Given the description of an element on the screen output the (x, y) to click on. 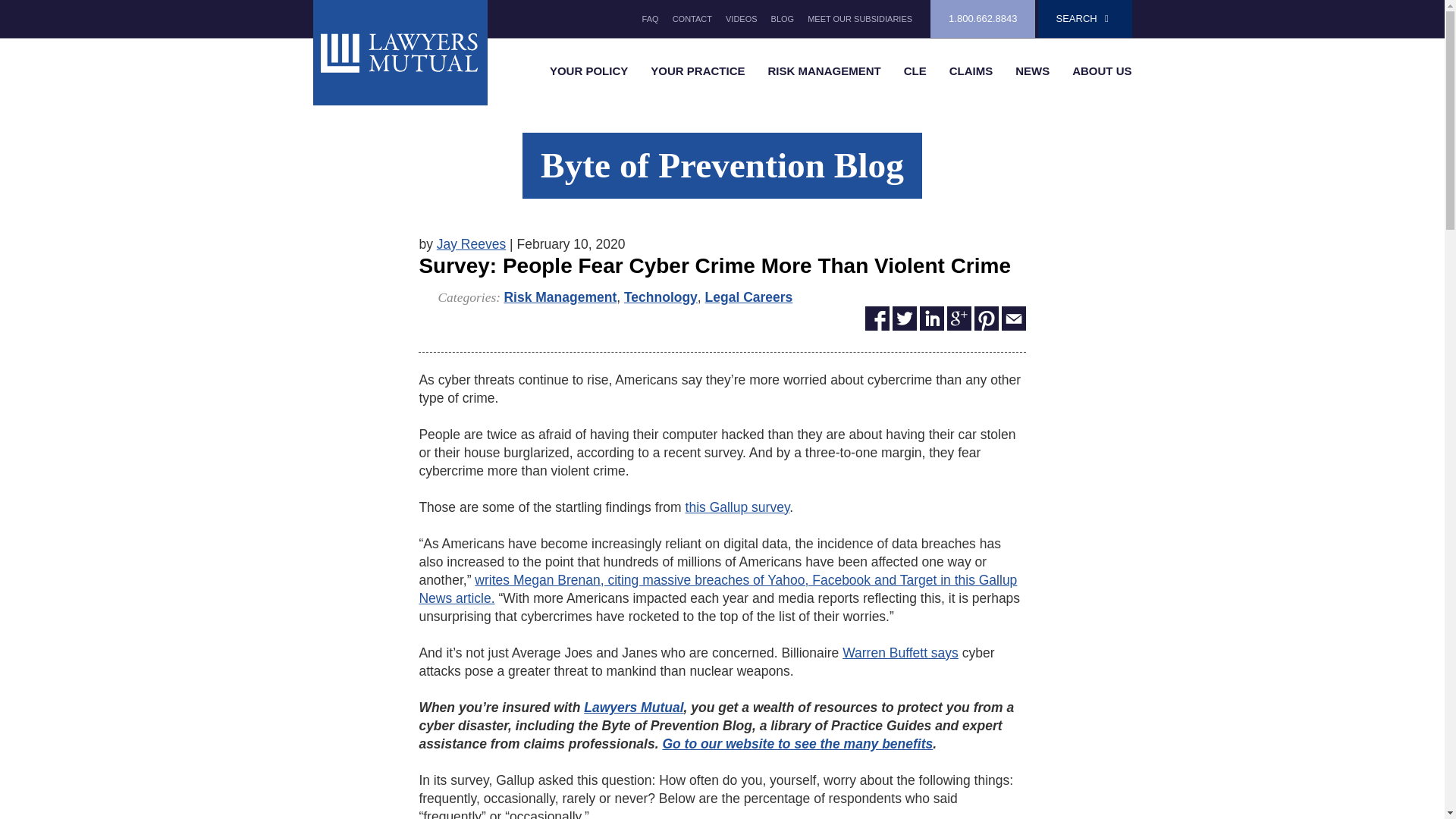
RISK MANAGEMENT (823, 71)
YOUR PRACTICE (697, 71)
CLE (914, 71)
NEWS (1032, 71)
ABOUT US (1101, 71)
YOUR POLICY (588, 71)
CLAIMS (970, 71)
